Given the description of an element on the screen output the (x, y) to click on. 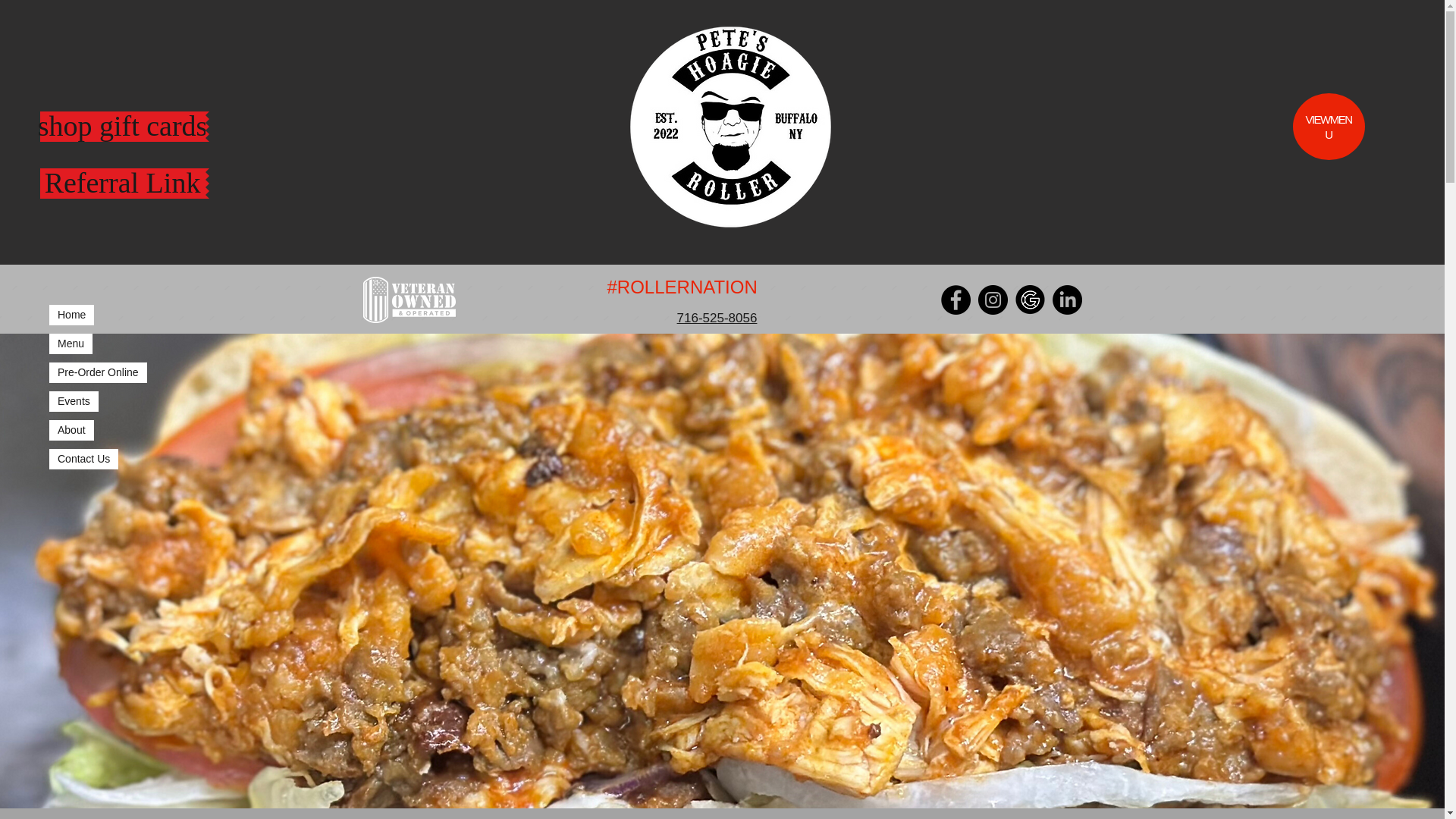
Events (74, 401)
716-525-8056 (717, 318)
Menu (71, 343)
Contact Us (83, 458)
VIEWMENU (1327, 126)
Referral Link (122, 183)
Home (71, 314)
About (71, 430)
shop gift cards (122, 126)
Pre-Order Online (98, 372)
